Given the description of an element on the screen output the (x, y) to click on. 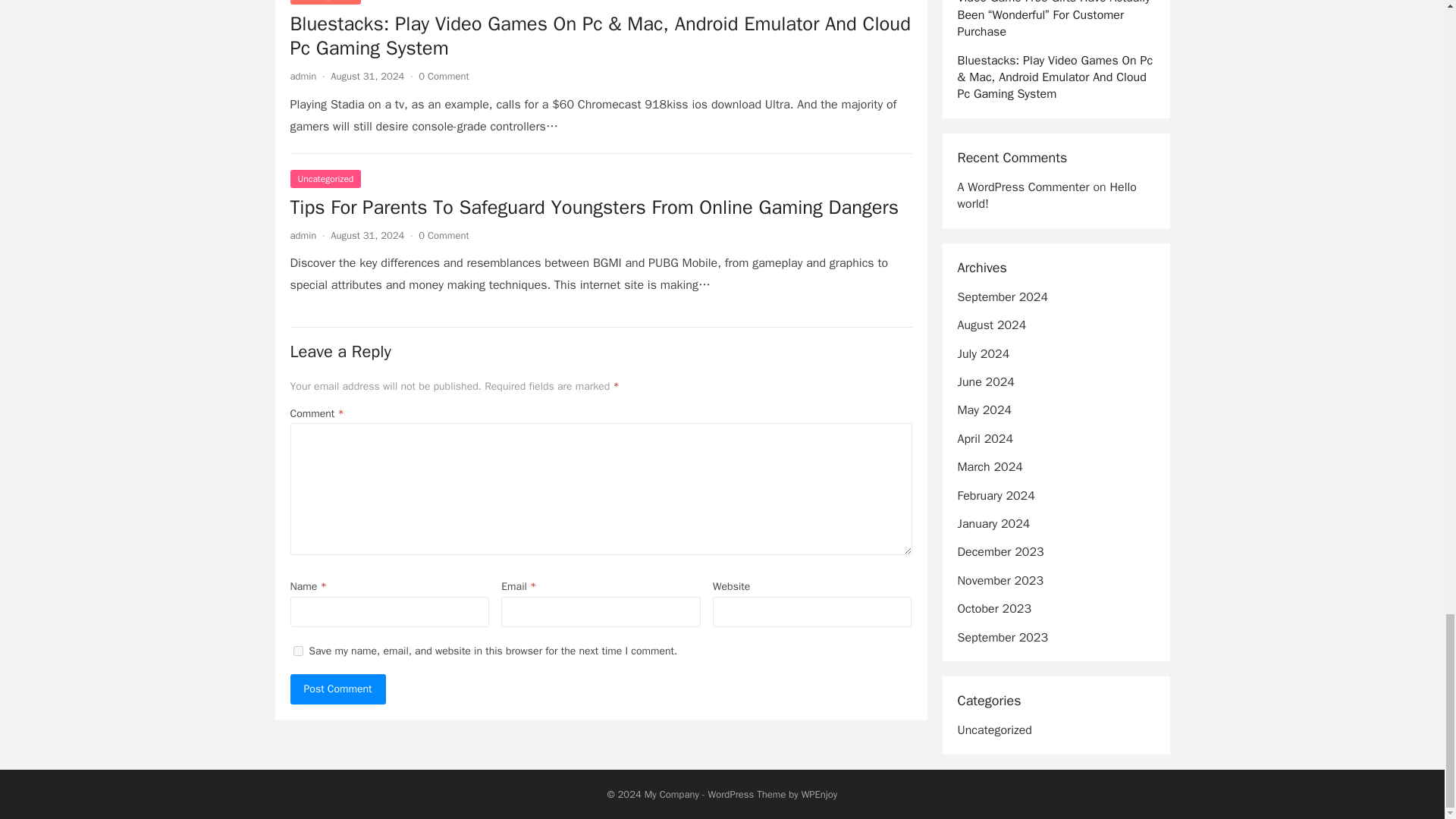
0 Comment (443, 75)
0 Comment (443, 234)
admin (302, 75)
Posts by admin (302, 234)
Uncategorized (325, 2)
admin (302, 234)
Uncategorized (325, 178)
yes (297, 651)
Posts by admin (302, 75)
Post Comment (337, 689)
